Given the description of an element on the screen output the (x, y) to click on. 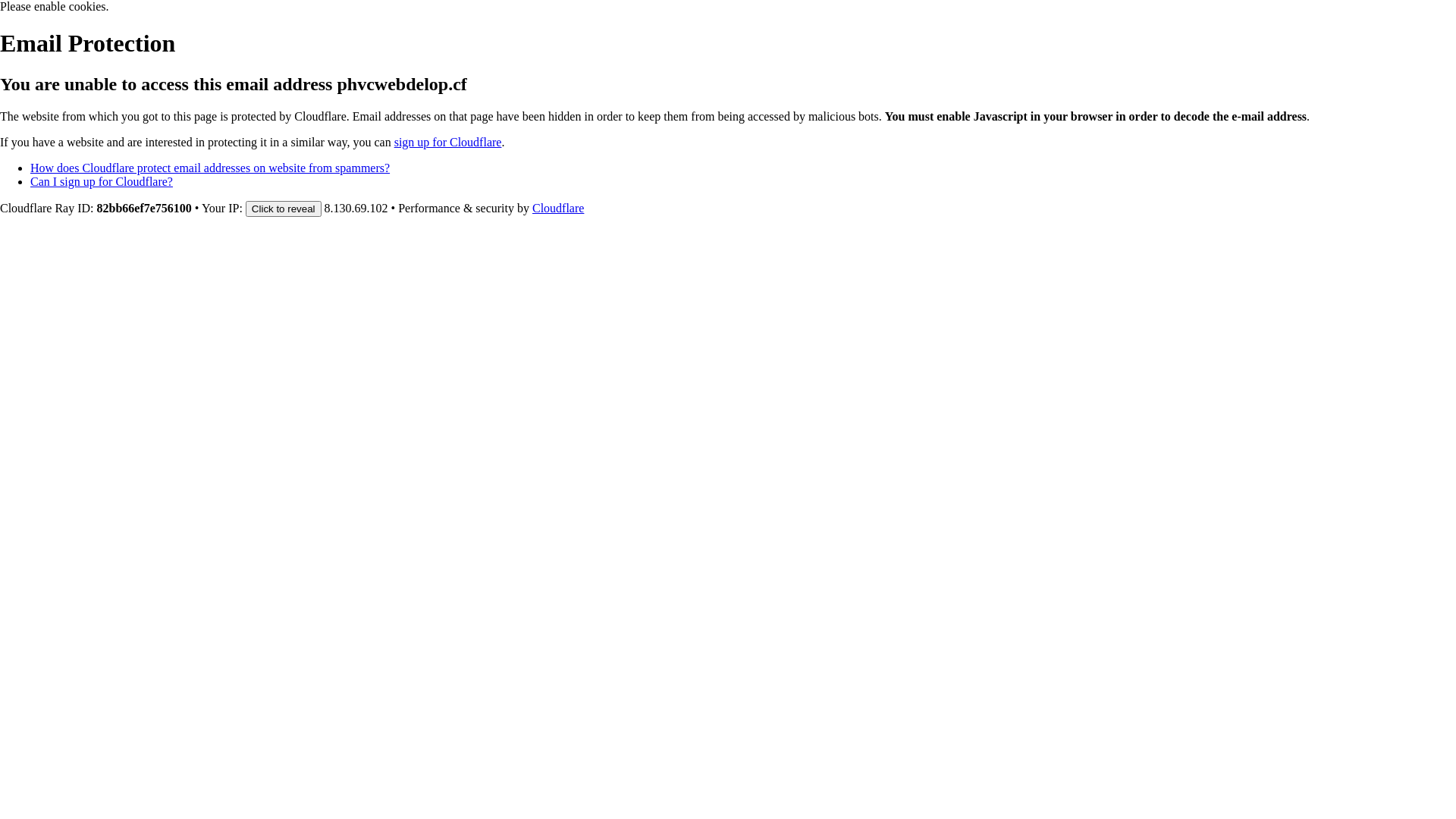
Click to reveal Element type: text (283, 208)
sign up for Cloudflare Element type: text (448, 141)
Can I sign up for Cloudflare? Element type: text (101, 181)
Cloudflare Element type: text (557, 207)
